Given the description of an element on the screen output the (x, y) to click on. 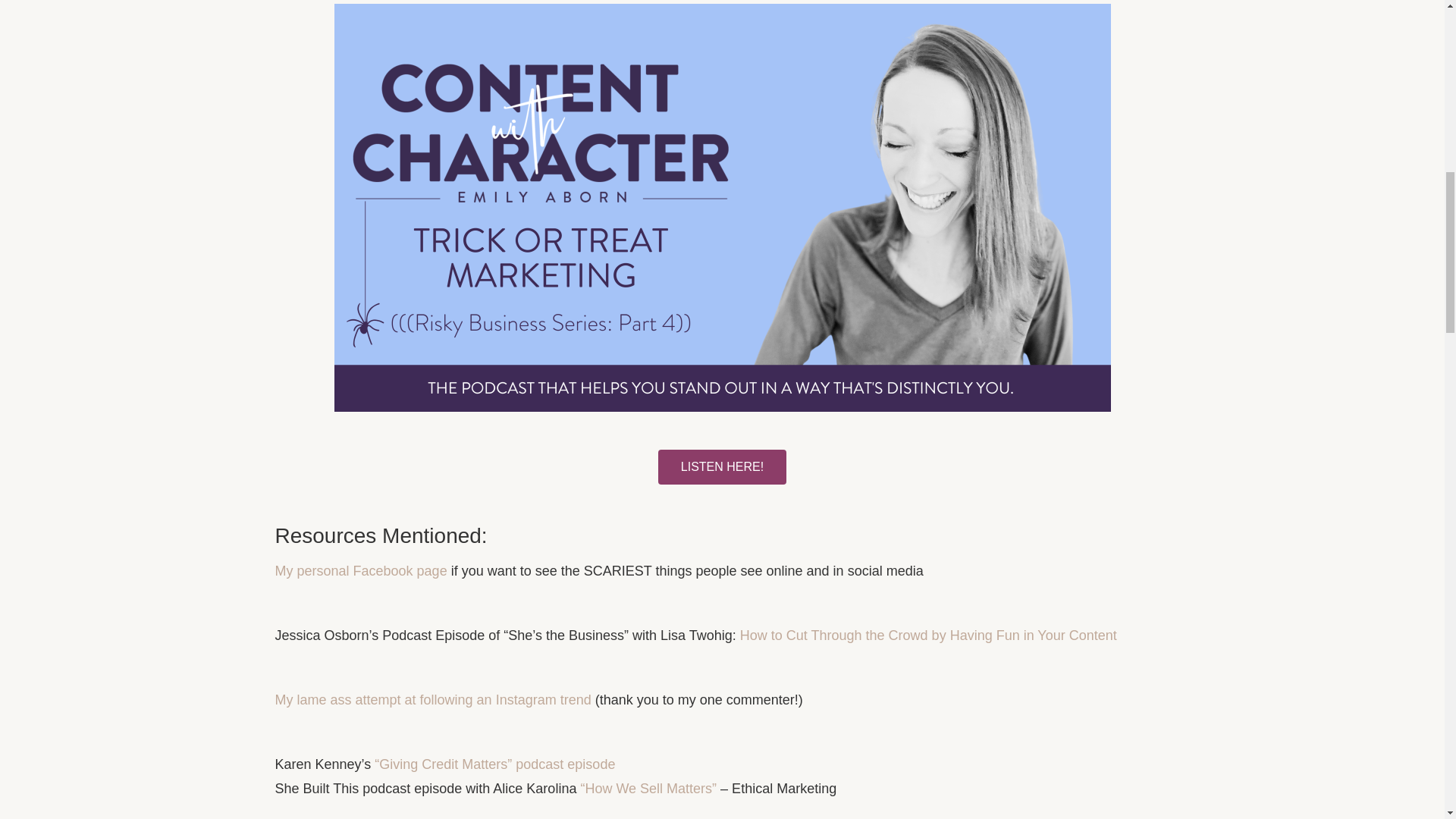
My lame ass attempt at following an Instagram trend (433, 699)
LISTEN HERE! (722, 466)
How to Cut Through the Crowd by Having Fun in Your Content  (930, 635)
My personal Facebook page (360, 570)
